Given the description of an element on the screen output the (x, y) to click on. 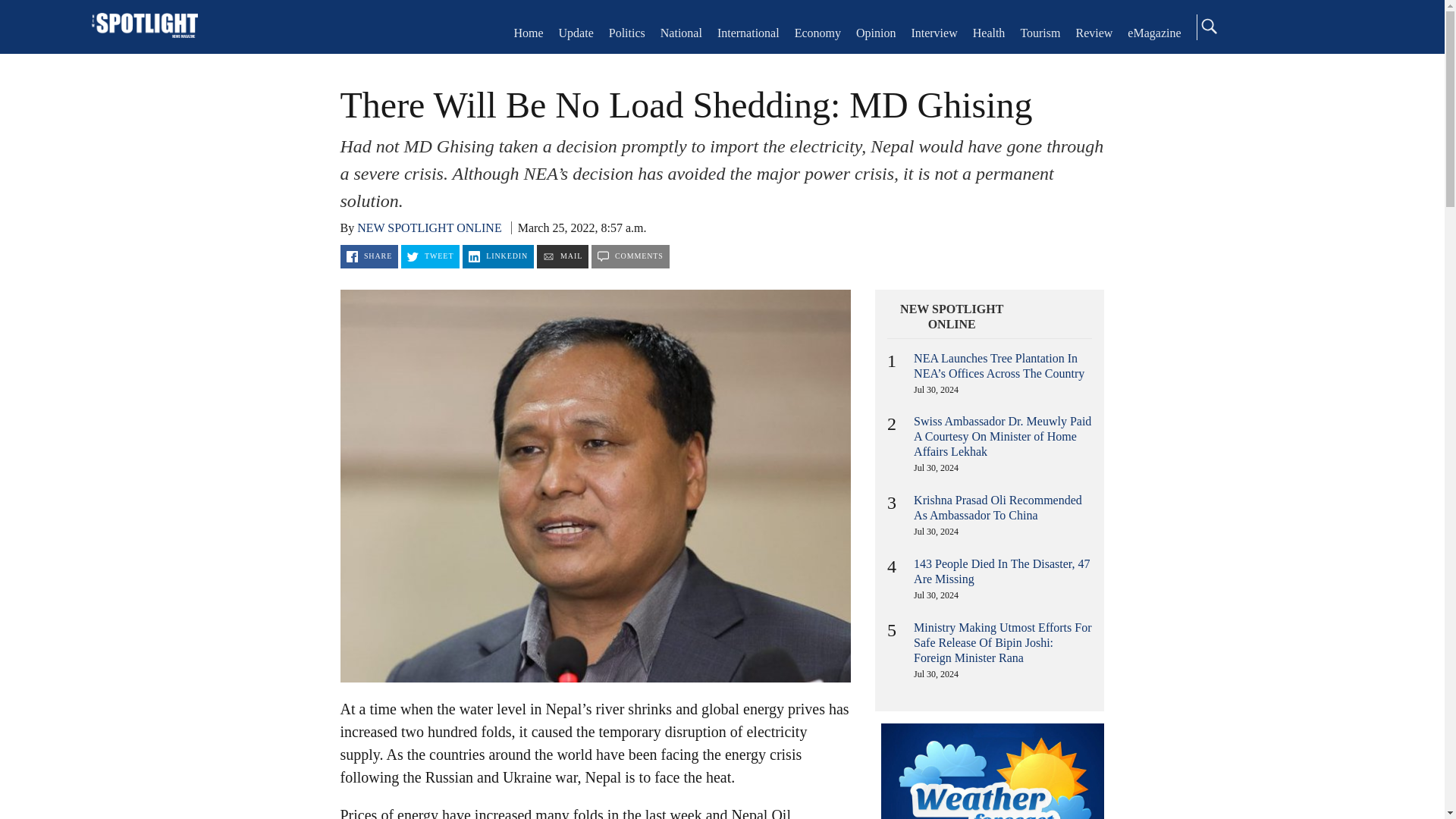
National (681, 32)
Opinion (875, 32)
NEW SPOTLIGHT ONLINE (951, 317)
Krishna Prasad Oli Recommended As Ambassador To China (997, 507)
Interview (933, 32)
MAIL (563, 256)
LINKEDIN (498, 256)
eMagazine (1153, 32)
International (747, 32)
Politics (626, 32)
Tourism (1039, 32)
143 People Died In The Disaster, 47 Are Missing (1001, 571)
NEW SPOTLIGHT ONLINE (429, 227)
TWEET (430, 256)
Review (1093, 32)
